Given the description of an element on the screen output the (x, y) to click on. 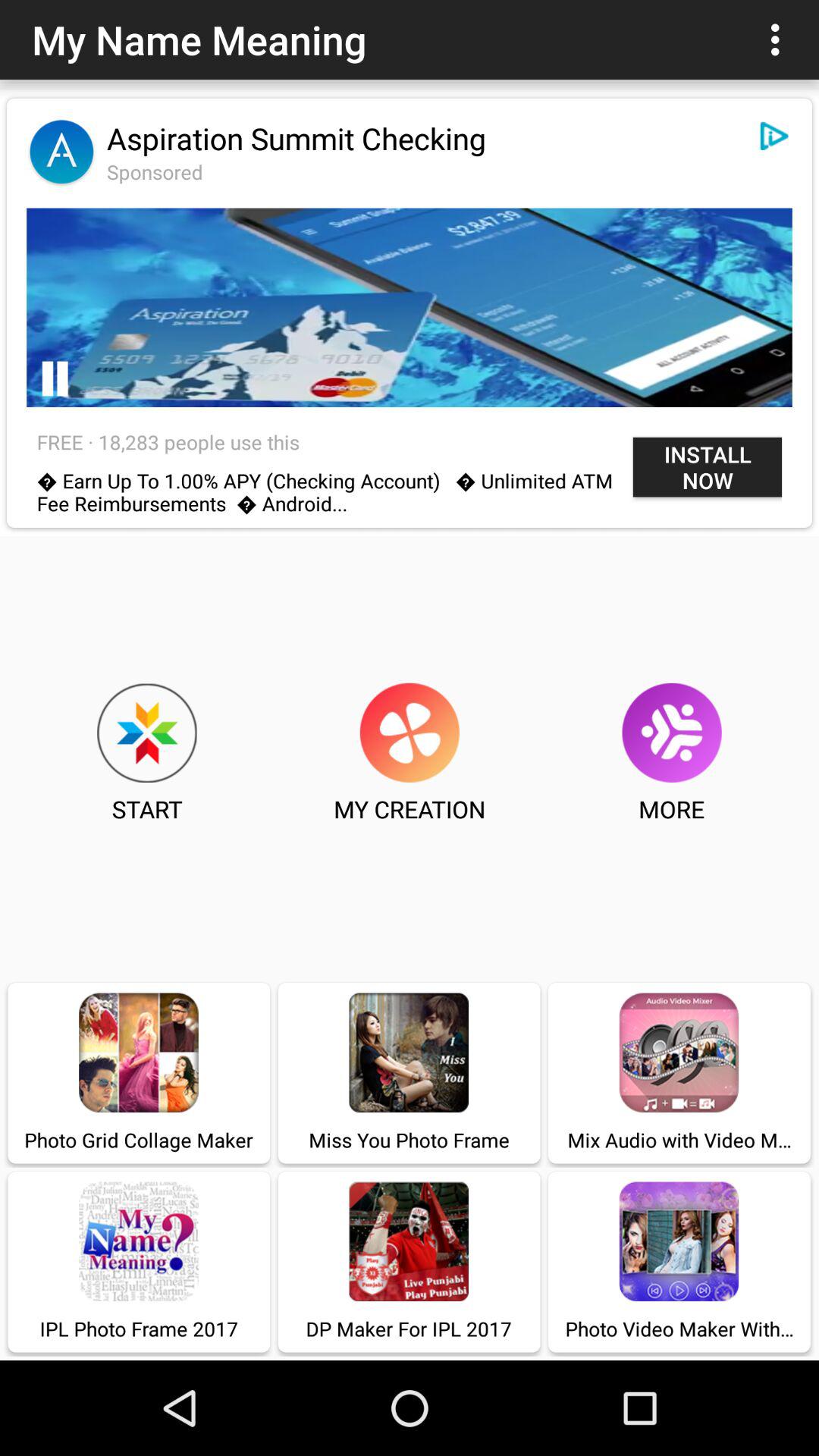
select the install now (707, 467)
